Given the description of an element on the screen output the (x, y) to click on. 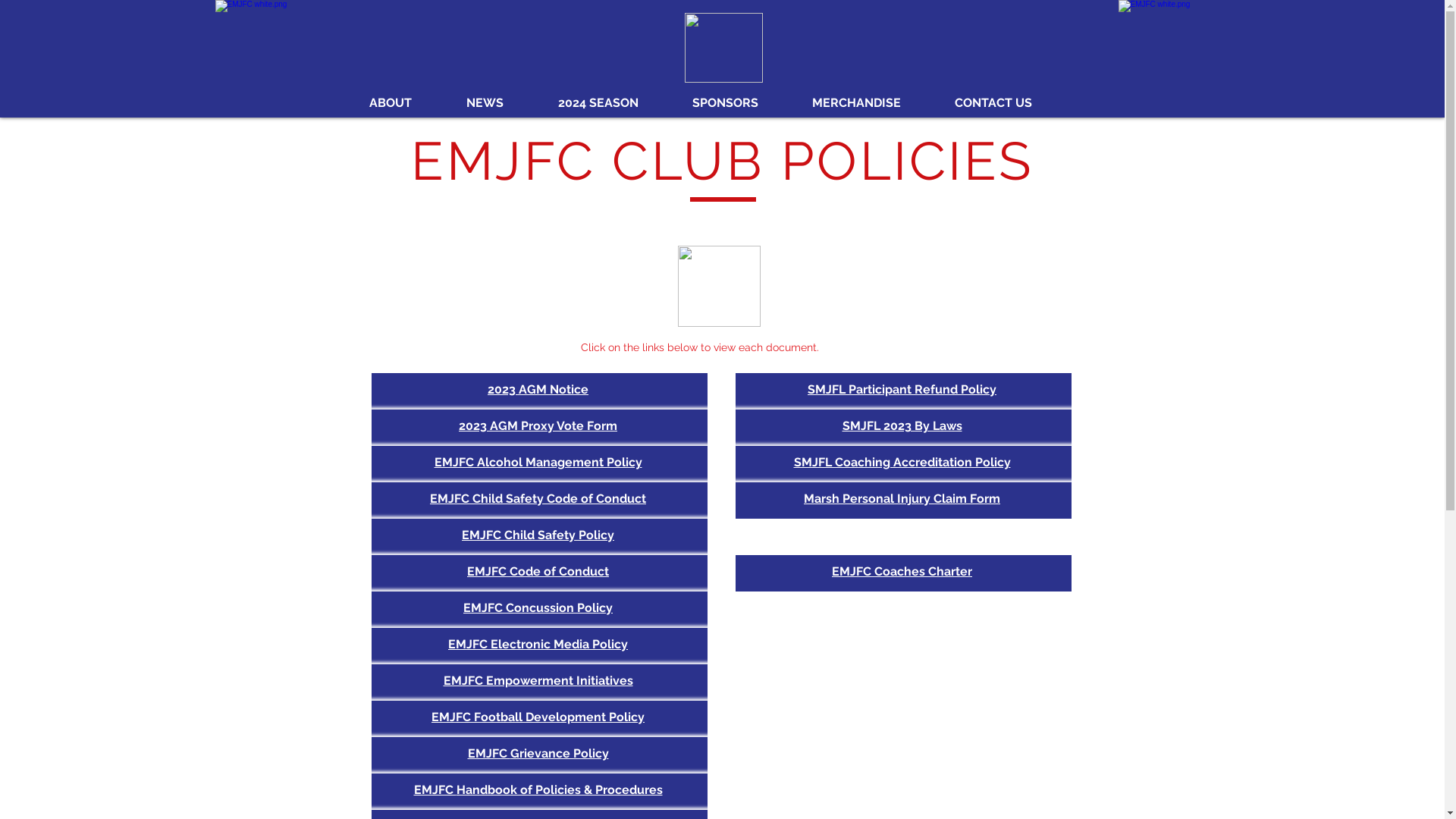
Knights logo_TransparentBG.png Element type: hover (723, 47)
EMJFC Alcohol Management Policy Element type: text (537, 462)
SMJFL Participant Refund Policy Element type: text (901, 389)
EMJFC Football Development Policy Element type: text (537, 716)
Handbook of Policies & Procedures Element type: text (559, 789)
2023 AGM Notice Element type: text (537, 389)
MERCHANDISE Element type: text (874, 102)
SPONSORS Element type: text (743, 102)
EMJFC Concussion Policy Element type: text (537, 607)
CONTACT US Element type: text (1011, 102)
Grievance Policy Element type: text (558, 753)
2023 AGM Proxy Vote Form Element type: text (537, 425)
Code of Conduct Element type: text (558, 571)
Electronic Media Policy Element type: text (558, 644)
SMJFL Coaching Accreditation Policy Element type: text (901, 462)
EMJFC Coaches Charter Element type: text (901, 571)
Marsh Personal Injury Claim Form Element type: text (901, 498)
SMJFL 2023 By Laws Element type: text (901, 425)
EMJFC Child Safety Policy Element type: text (537, 534)
Child Safety Code of Conduct Element type: text (559, 498)
